Given the description of an element on the screen output the (x, y) to click on. 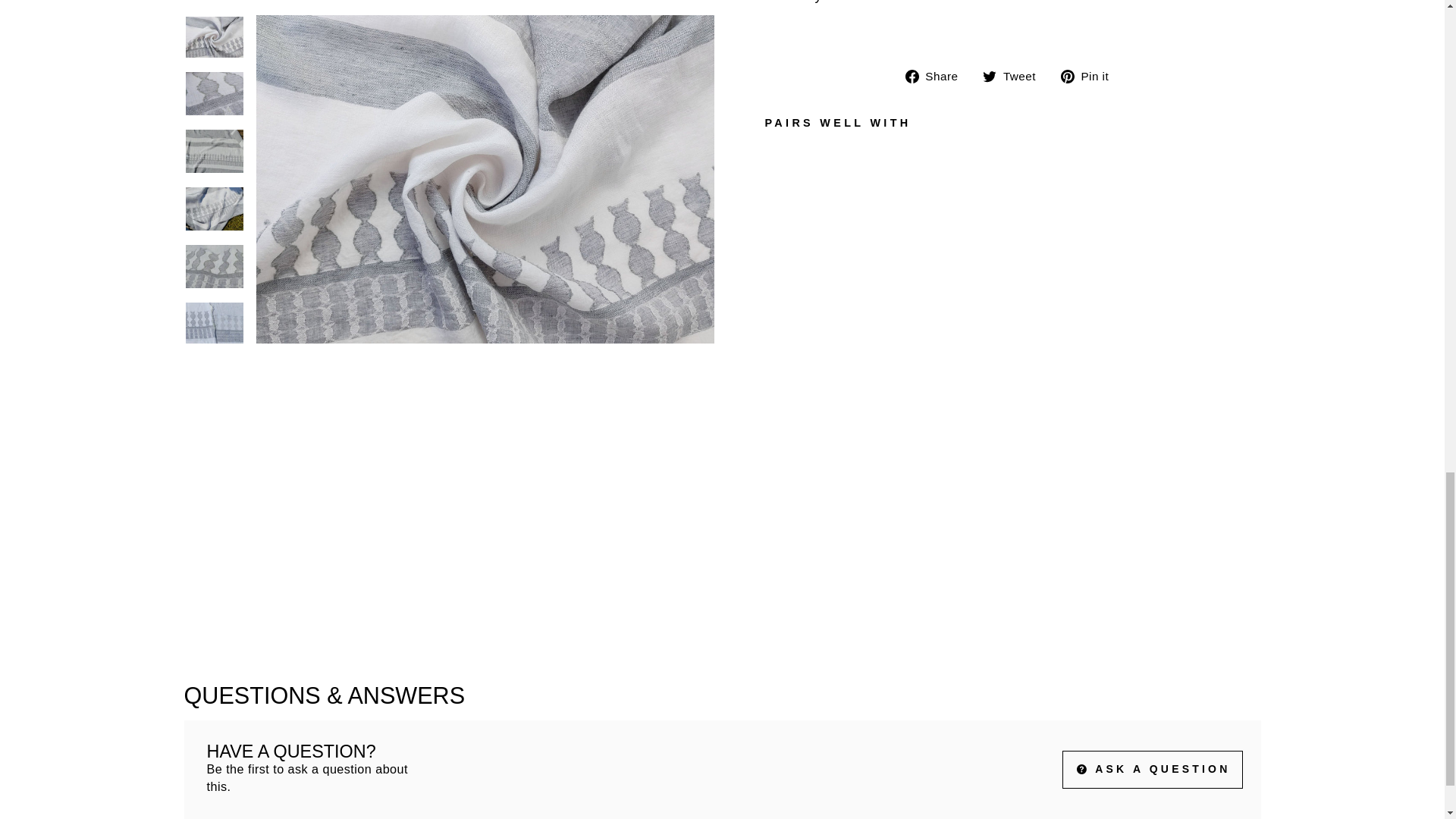
Tweet on Twitter (1014, 75)
Pin on Pinterest (1090, 75)
Share on Facebook (937, 75)
